Given the description of an element on the screen output the (x, y) to click on. 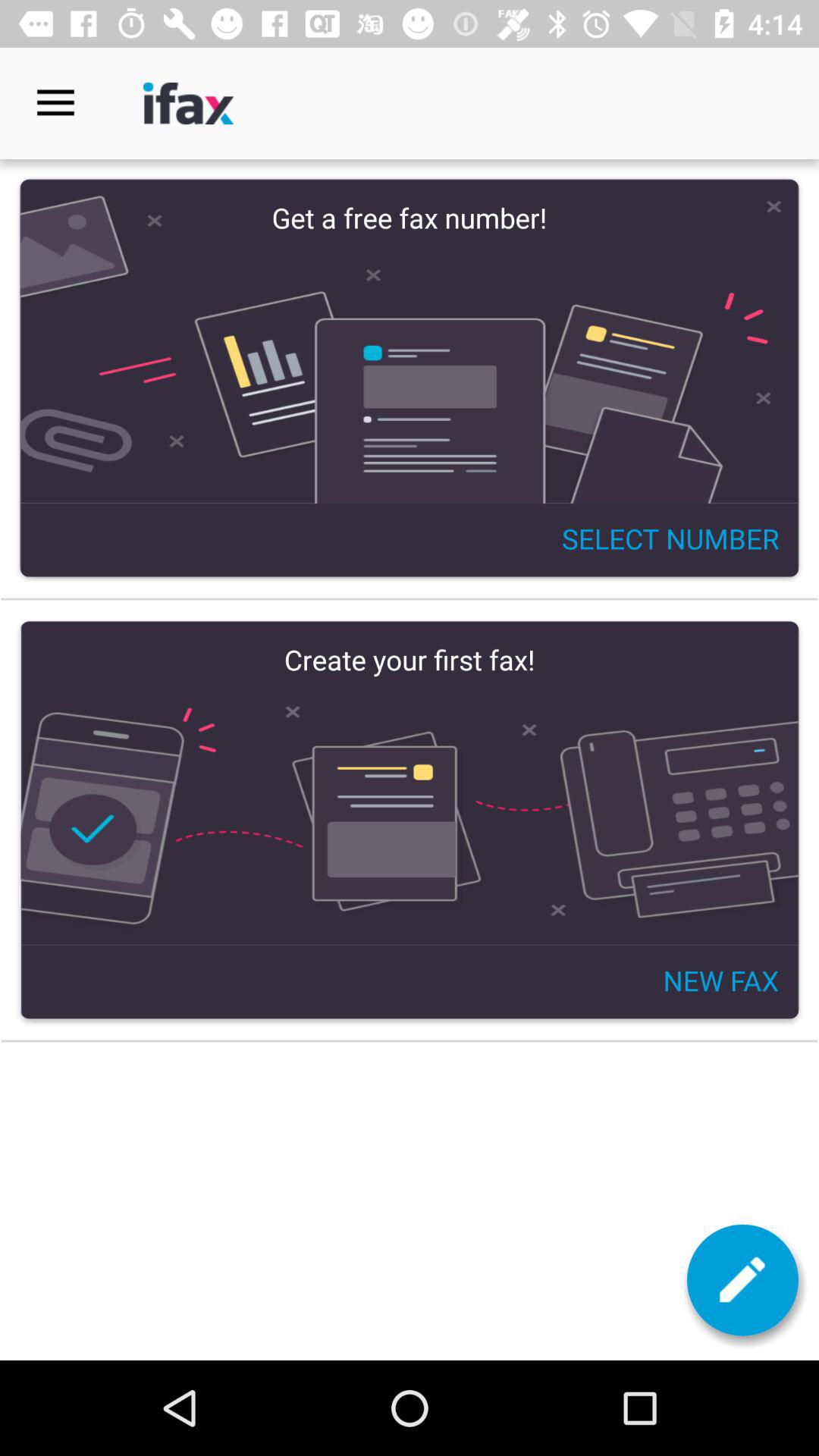
create your first fax (409, 820)
